Given the description of an element on the screen output the (x, y) to click on. 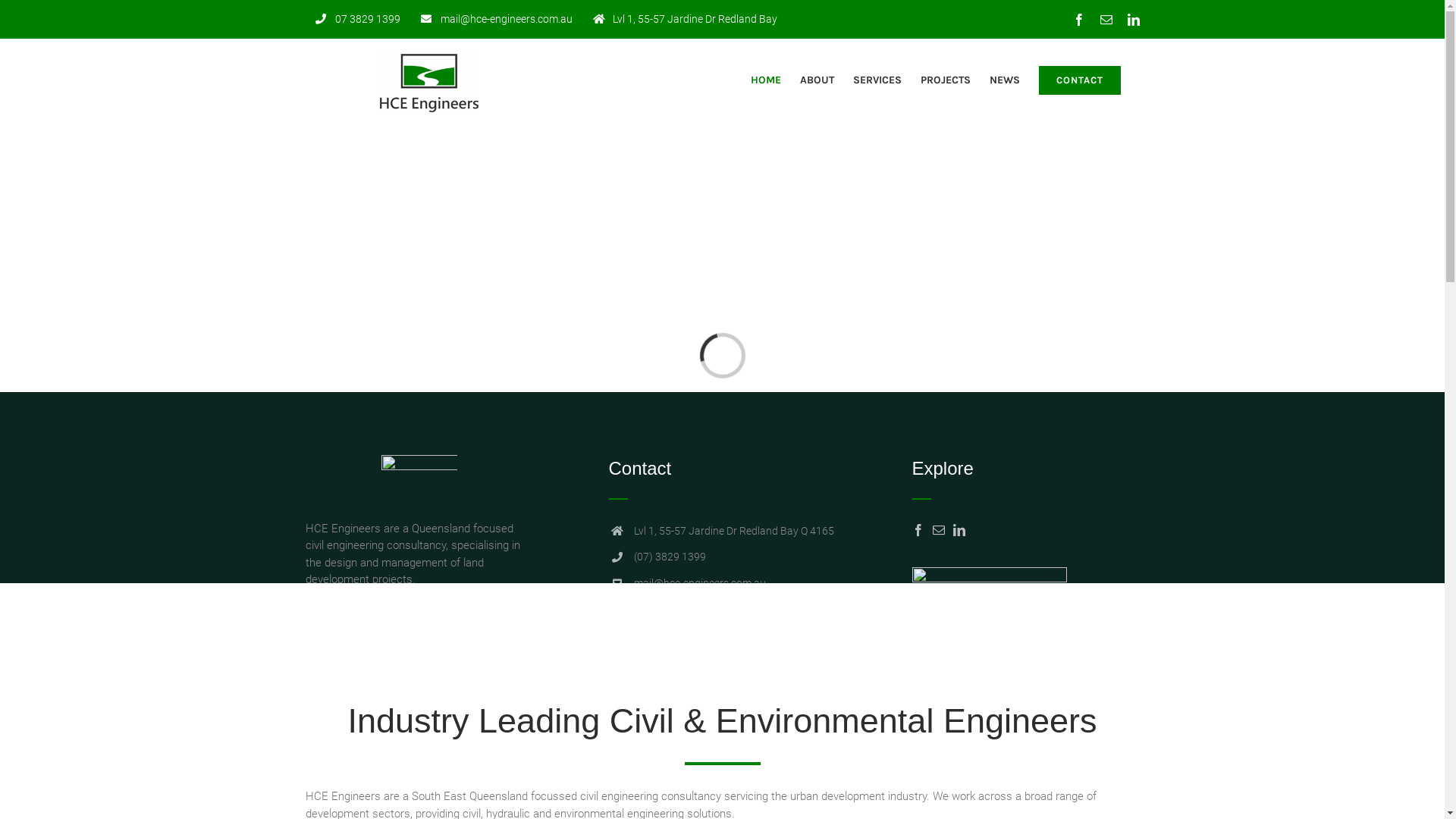
Email Element type: text (1105, 19)
ABOUT Element type: text (816, 79)
Lvl 1, 55-57 Jardine Dr Redland Bay Element type: text (684, 18)
CONTACT Element type: text (1079, 79)
Facebook Element type: text (1078, 19)
LinkedIn Element type: text (1132, 782)
Mail Element type: hover (938, 529)
SERVICES Element type: text (876, 79)
HCE Engineers Logo Element type: hover (418, 477)
PROJECTS Element type: text (945, 79)
LinkedIn Element type: hover (958, 529)
Email Element type: text (1105, 782)
mail@hce-engineers.com.au Element type: text (496, 18)
Facebook Element type: hover (917, 529)
HOME Element type: text (765, 79)
Facebook Element type: text (1078, 782)
07 3829 1399 Element type: text (356, 18)
RiskSmart logobw Element type: hover (988, 601)
NEWS Element type: text (1003, 79)
LinkedIn Element type: text (1132, 19)
